Given the description of an element on the screen output the (x, y) to click on. 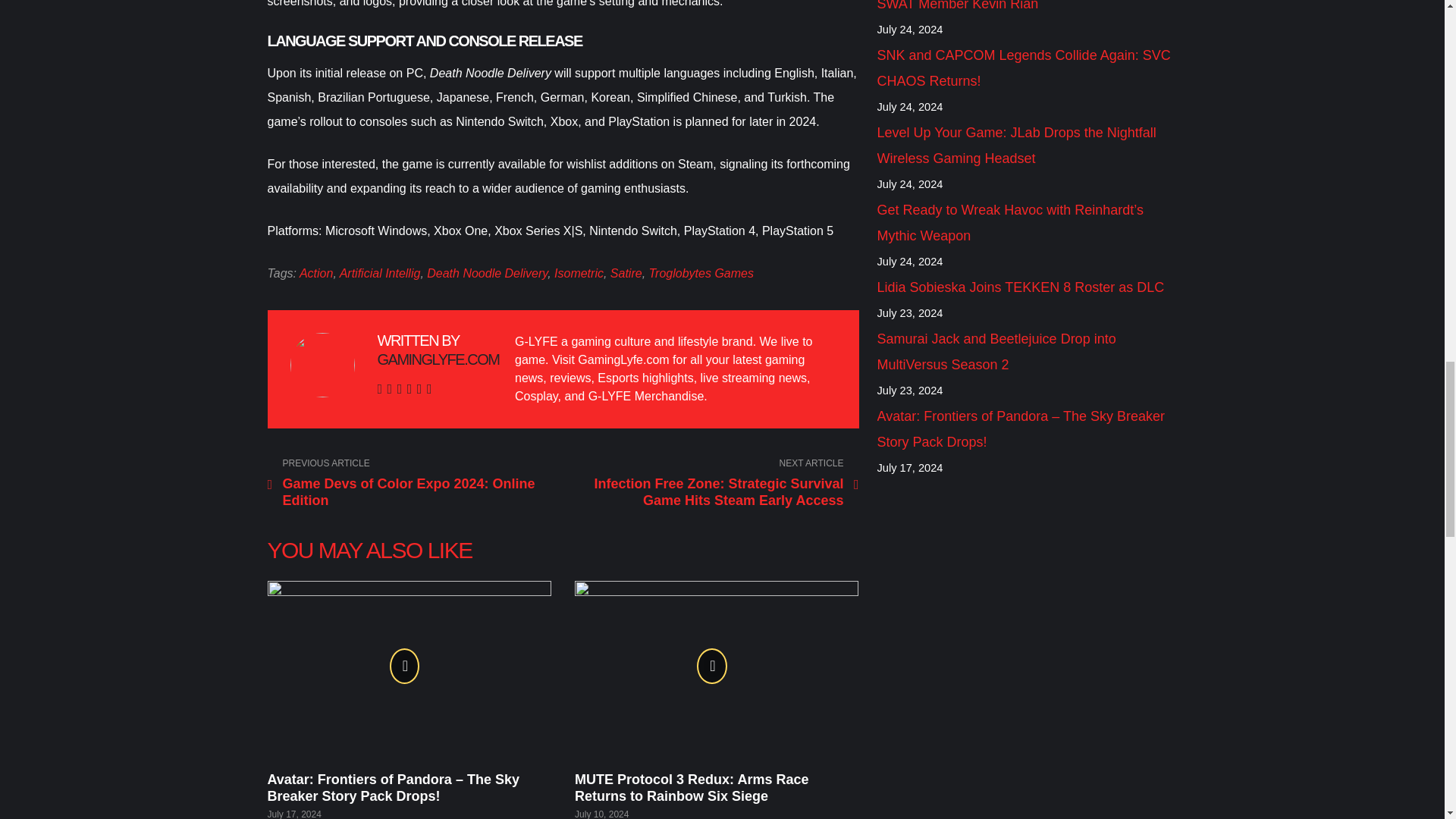
Game Devs of Color Expo 2024: Online Edition (411, 483)
